Given the description of an element on the screen output the (x, y) to click on. 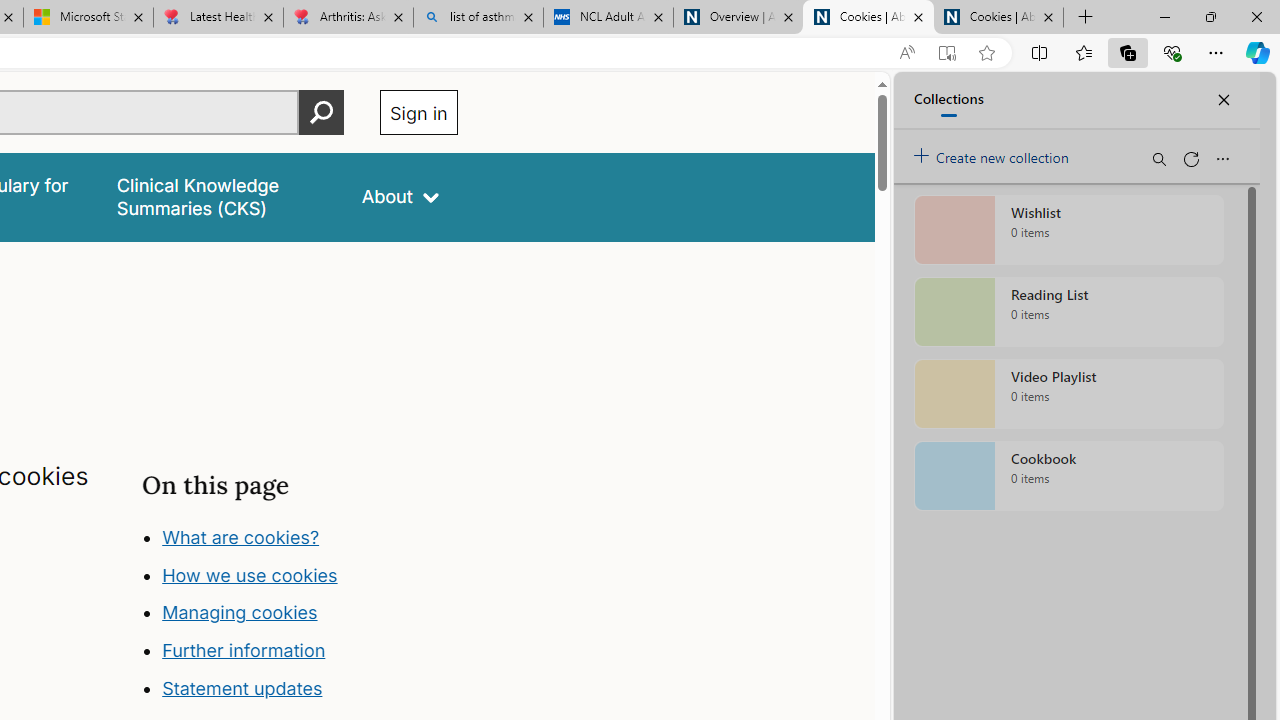
Perform search (321, 112)
list of asthma inhalers uk - Search (477, 17)
Cookies | About | NICE (998, 17)
What are cookies? (241, 536)
How we use cookies (249, 574)
Enter Immersive Reader (F9) (946, 53)
false (221, 196)
Sign in (418, 112)
NCL Adult Asthma Inhaler Choice Guideline (608, 17)
Further information (244, 650)
Managing cookies (239, 612)
